Given the description of an element on the screen output the (x, y) to click on. 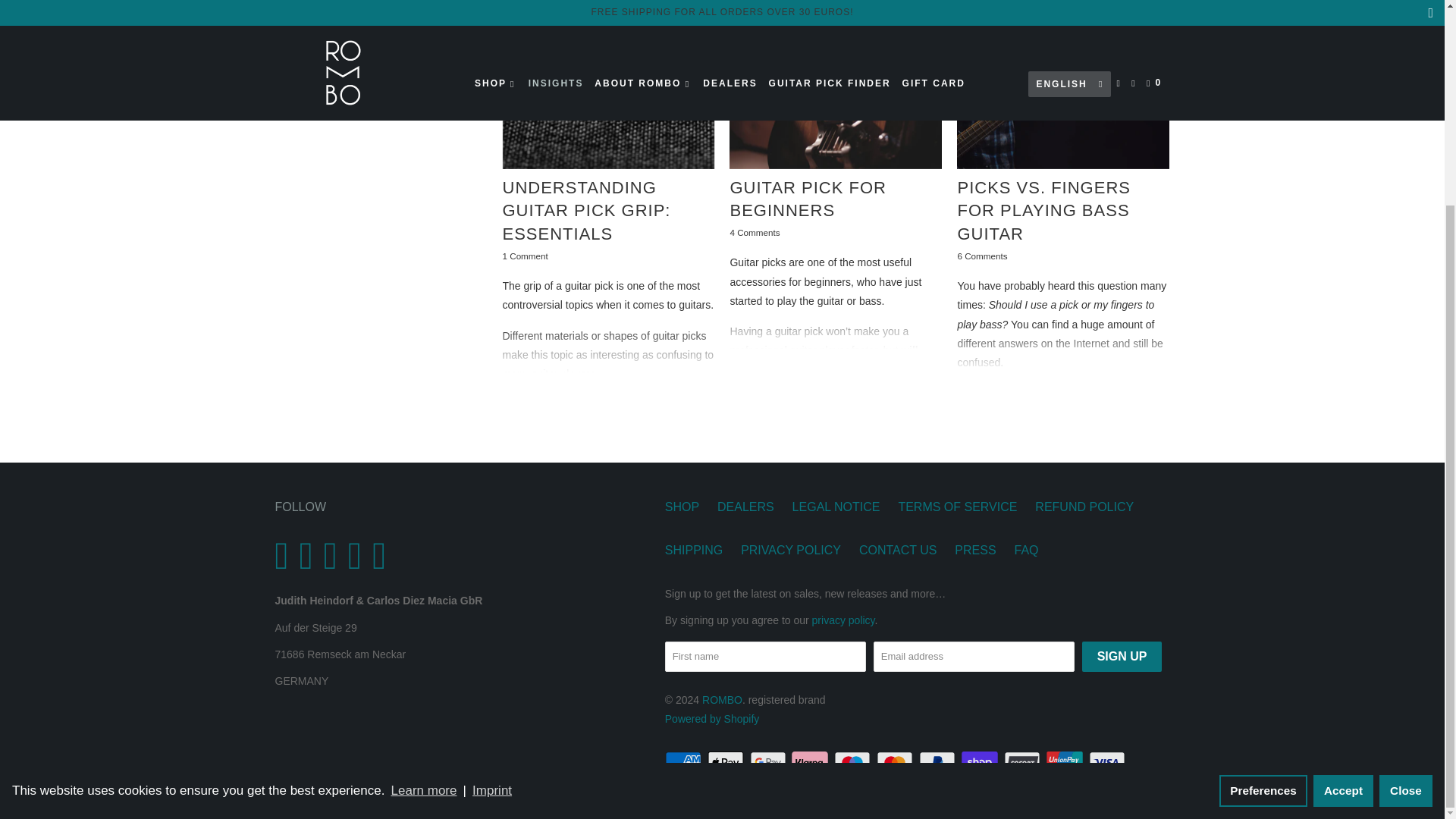
SOFORT (1023, 762)
Shop Pay (980, 762)
Imprint (492, 526)
Google Pay (769, 762)
Visa (1108, 762)
Close (1405, 526)
Sign Up (1121, 656)
Accept (1343, 526)
Learn more (424, 526)
Preferences (1263, 526)
Mastercard (895, 762)
PayPal (938, 762)
Klarna (811, 762)
American Express (684, 762)
Union Pay (1066, 762)
